Given the description of an element on the screen output the (x, y) to click on. 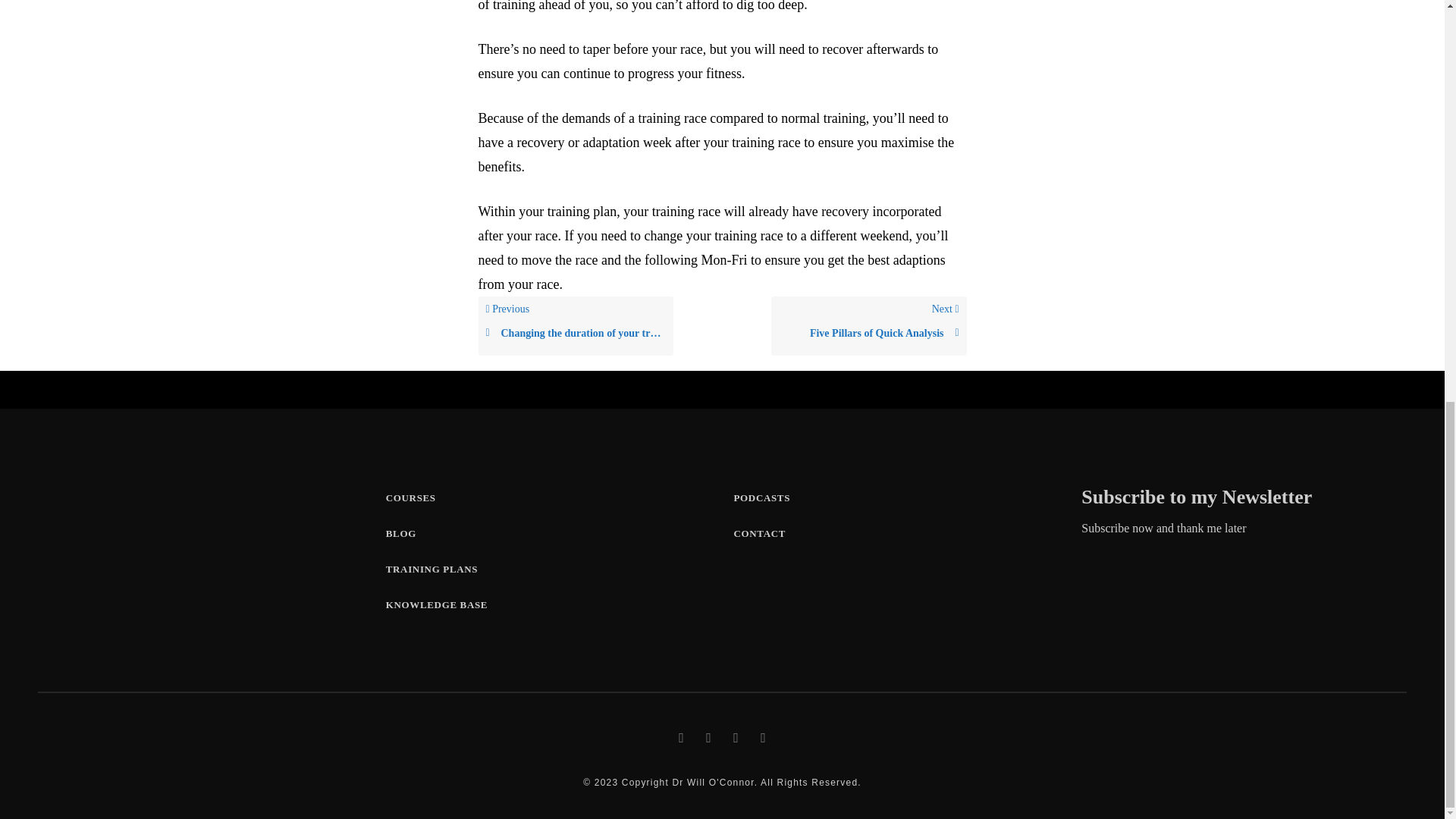
PODCASTS (868, 325)
Five Pillars of Quick Analysis (761, 497)
KNOWLEDGE BASE (868, 332)
BLOG (436, 604)
TRAINING PLANS (574, 325)
Changing the duration of your training plan (400, 532)
COURSES (431, 568)
CONTACT (574, 332)
